Given the description of an element on the screen output the (x, y) to click on. 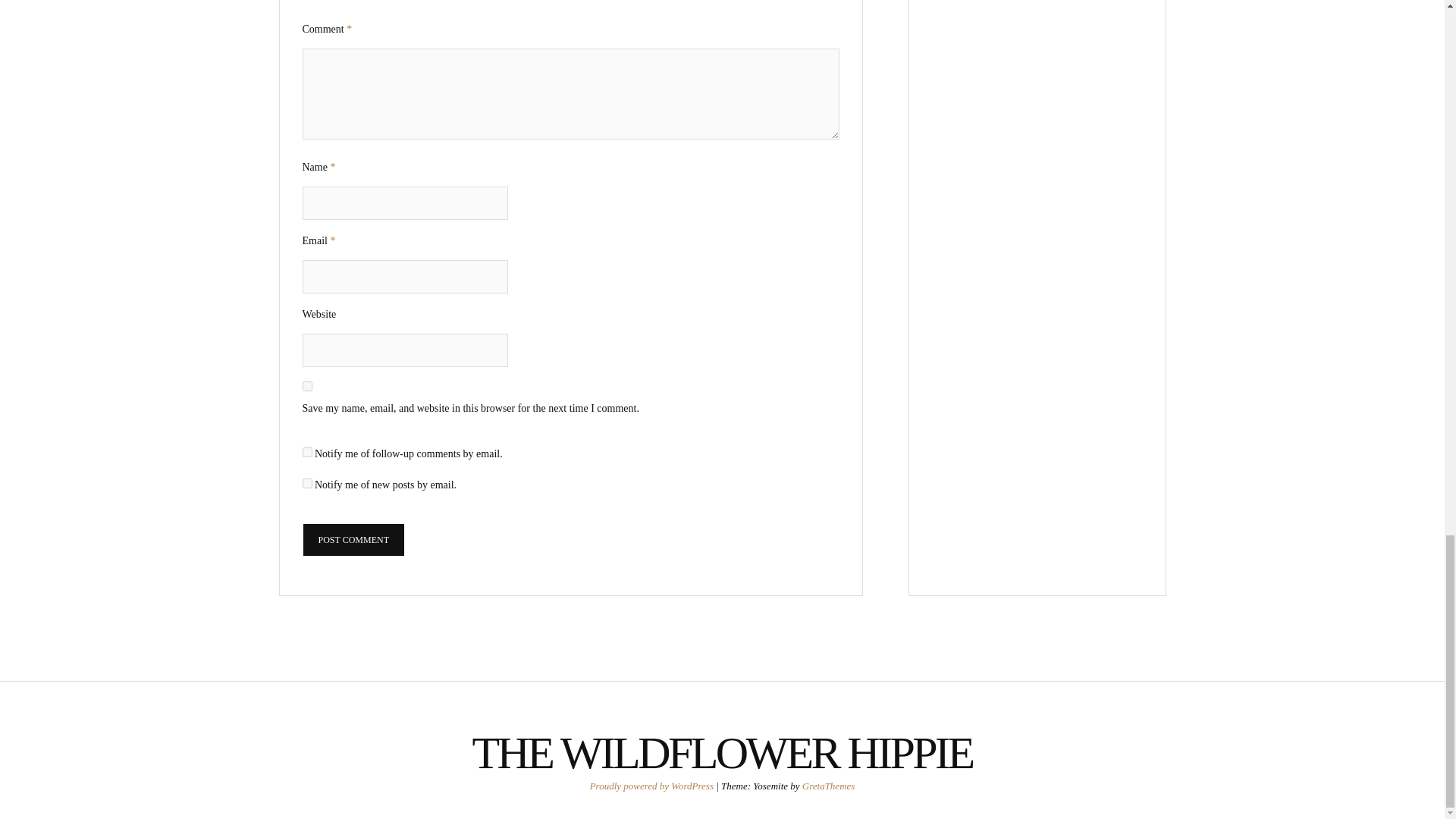
subscribe (306, 483)
yes (306, 386)
Post Comment (352, 539)
Post Comment (352, 539)
subscribe (306, 452)
